Given the description of an element on the screen output the (x, y) to click on. 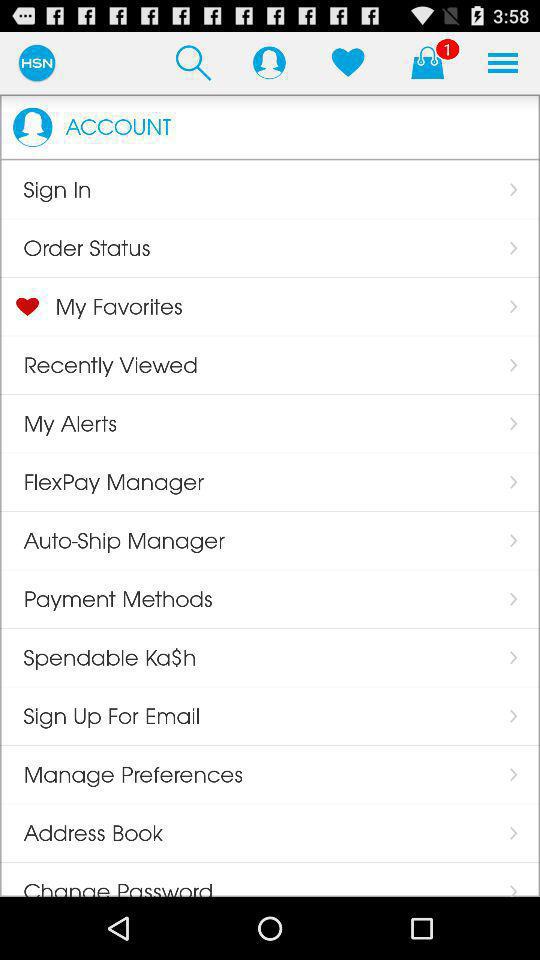
opens account menu (269, 62)
